Given the description of an element on the screen output the (x, y) to click on. 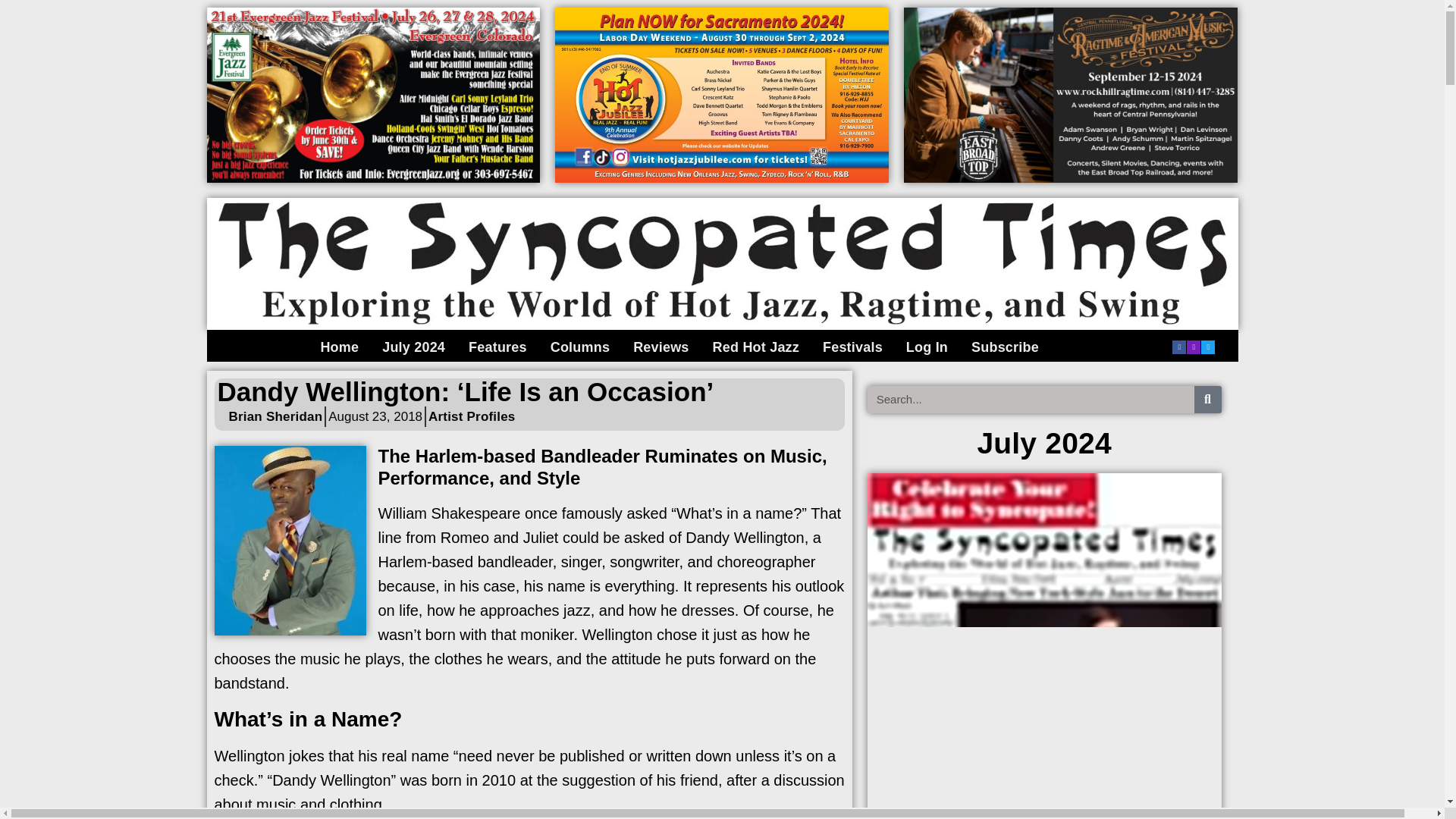
Home (338, 347)
July 2024 (413, 347)
Columns (579, 347)
Reviews (660, 347)
Features (497, 347)
